Given the description of an element on the screen output the (x, y) to click on. 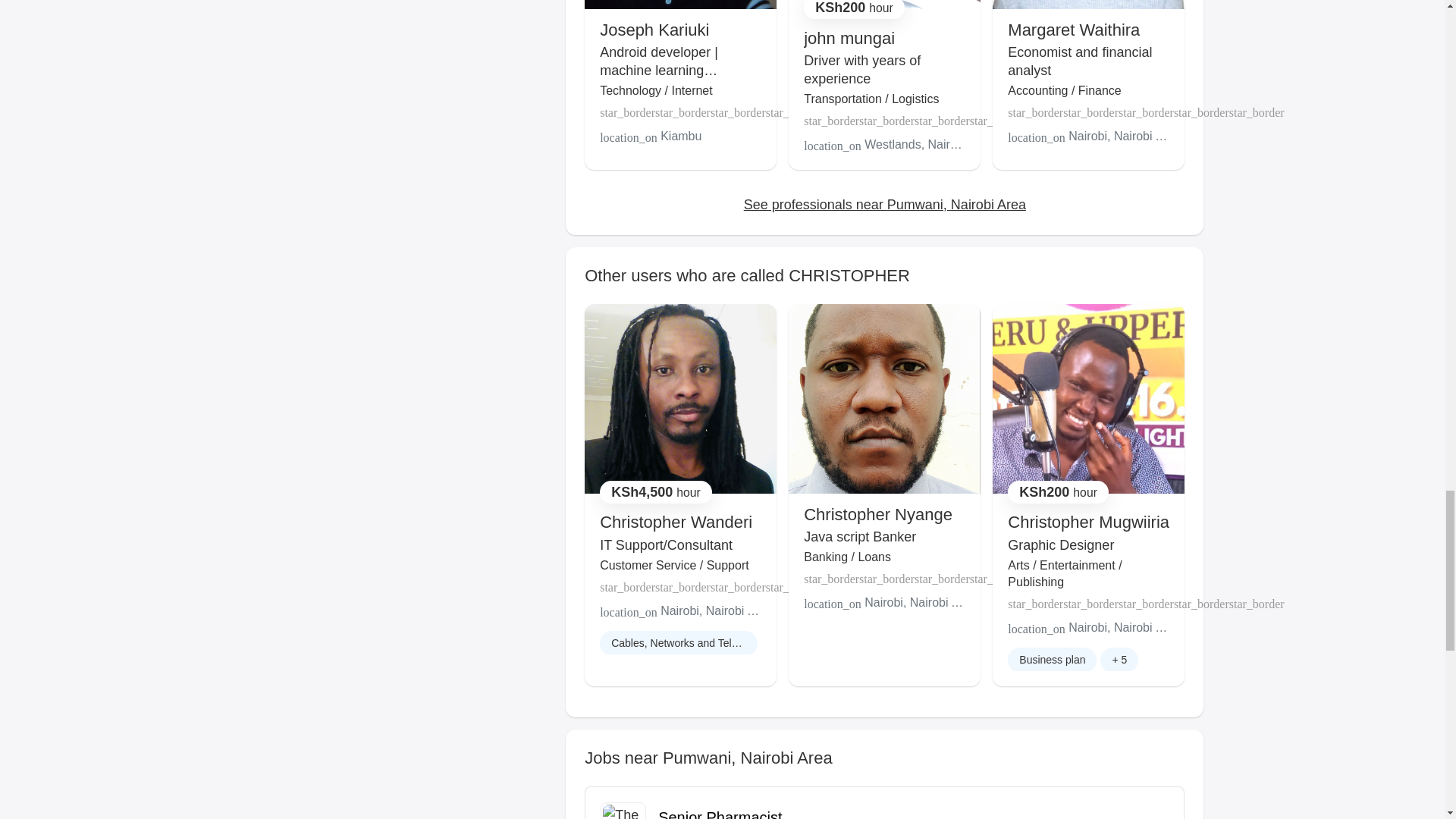
Margaret Waithira (1073, 29)
Christopher Wanderi (675, 521)
Christopher Mugwiiria (1088, 521)
See professionals near Pumwani, Nairobi Area (885, 204)
Christopher Mugwiiria (1088, 521)
Senior Pharmacist (719, 814)
Christopher Nyange (877, 514)
Joseph Kariuki (654, 29)
Christopher Nyange (877, 514)
Senior Pharmacist (719, 814)
